Given the description of an element on the screen output the (x, y) to click on. 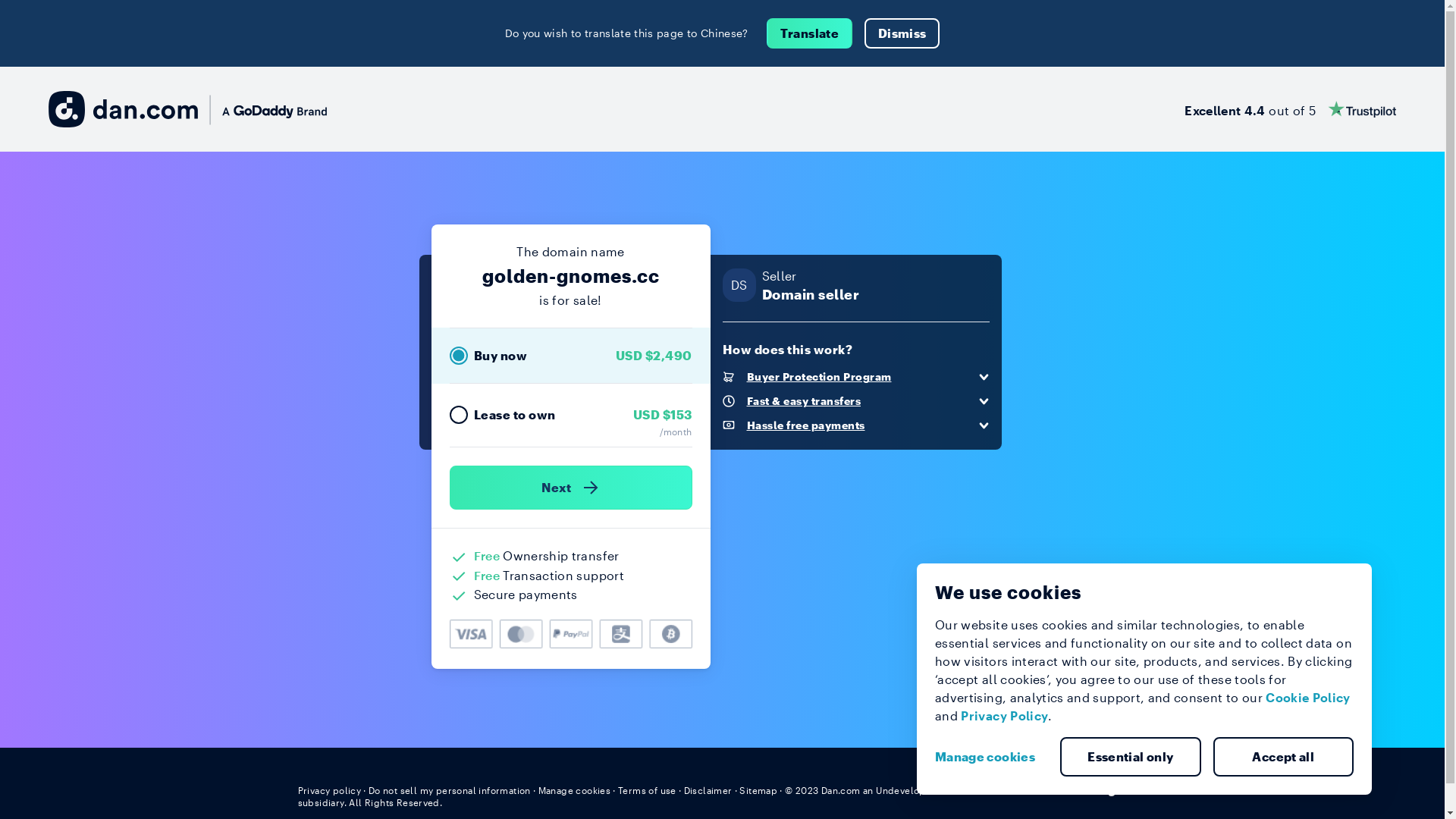
Manage cookies Element type: text (574, 790)
Essential only Element type: text (1130, 756)
Accept all Element type: text (1283, 756)
Dismiss Element type: text (901, 33)
Privacy policy Element type: text (328, 789)
Do not sell my personal information Element type: text (449, 789)
Terms of use Element type: text (647, 789)
Translate Element type: text (809, 33)
Disclaimer Element type: text (708, 789)
Excellent 4.4 out of 5 Element type: text (1290, 109)
Next
) Element type: text (569, 487)
English Element type: text (1119, 789)
Privacy Policy Element type: text (1004, 715)
Sitemap Element type: text (758, 789)
Manage cookies Element type: text (991, 756)
Cookie Policy Element type: text (1307, 697)
